Given the description of an element on the screen output the (x, y) to click on. 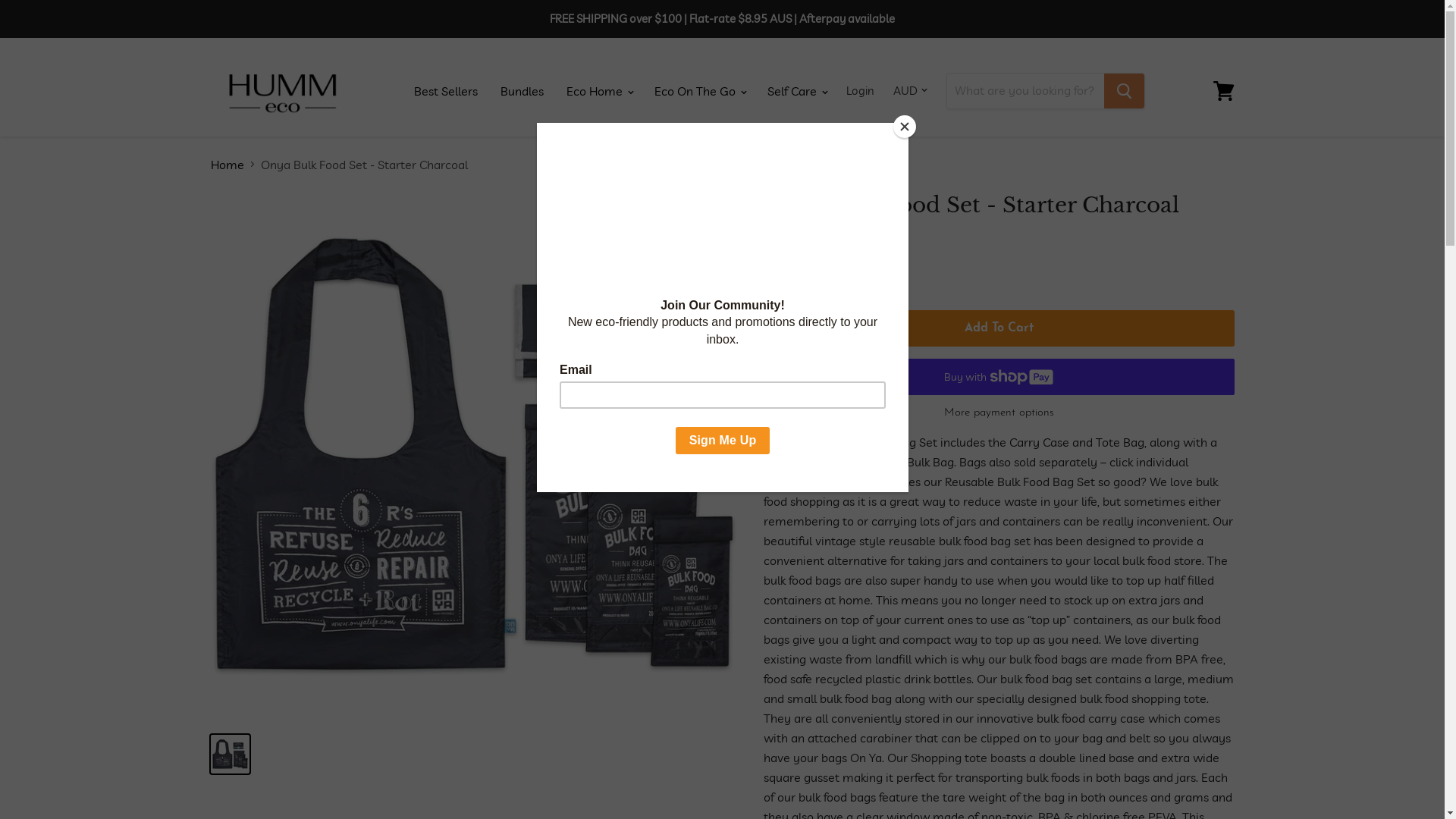
Home Element type: text (227, 164)
Bundles Element type: text (522, 90)
Eco On The Go Element type: text (699, 90)
Eco Home Element type: text (599, 90)
Login Element type: text (860, 90)
Self Care Element type: text (796, 90)
Best Sellers Element type: text (445, 90)
Add To Cart Element type: text (997, 328)
View cart Element type: text (1223, 89)
More payment options Element type: text (997, 412)
